Given the description of an element on the screen output the (x, y) to click on. 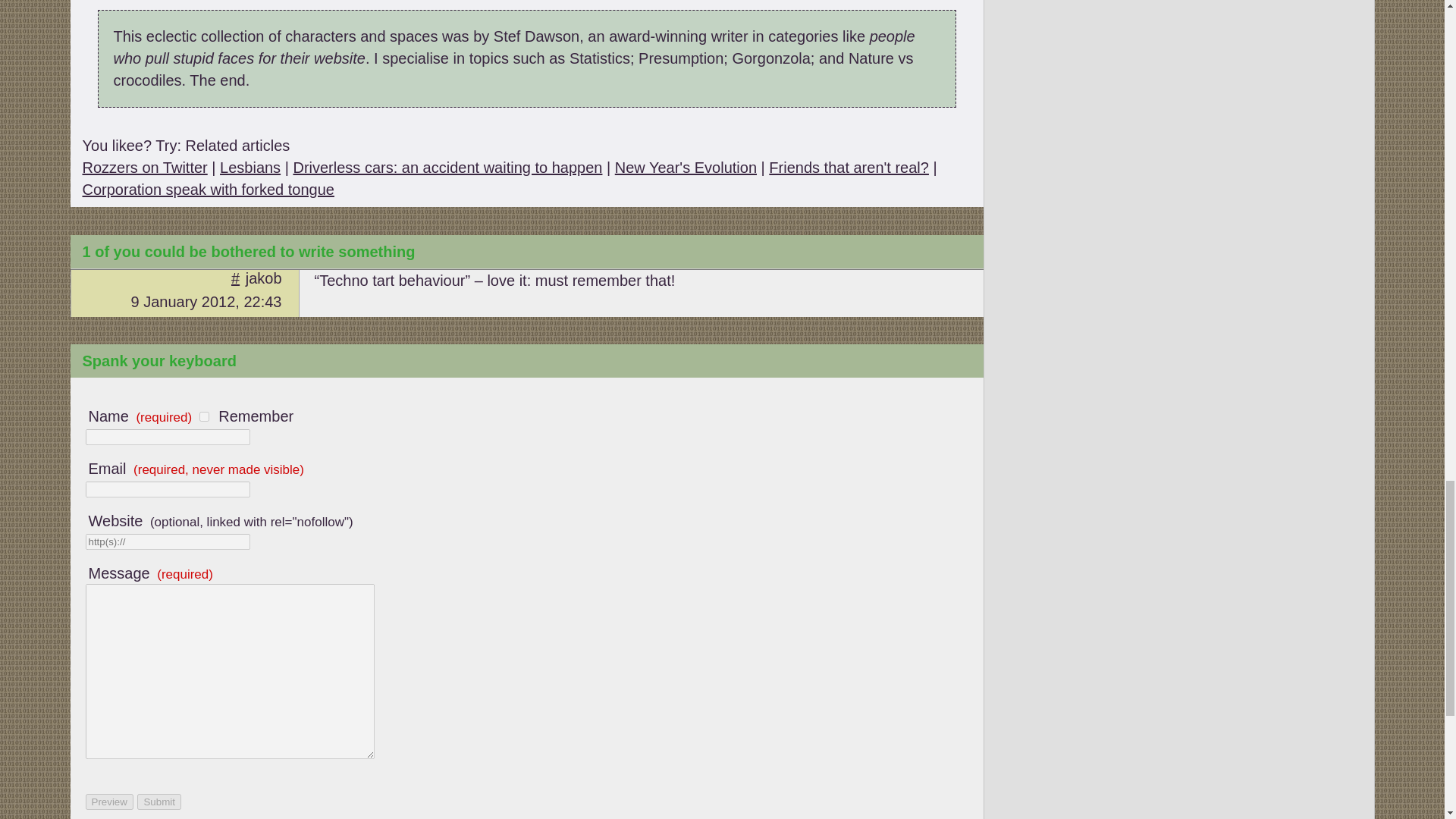
Preview (108, 801)
Friends that aren't real? (848, 167)
Rozzers on Twitter (143, 167)
New Year's Evolution (685, 167)
1 (204, 416)
Driverless cars: an accident waiting to happen (447, 167)
Corporation speak with forked tongue (207, 189)
Submit (158, 801)
Lesbians (250, 167)
Preview (108, 801)
Submit (158, 801)
